Given the description of an element on the screen output the (x, y) to click on. 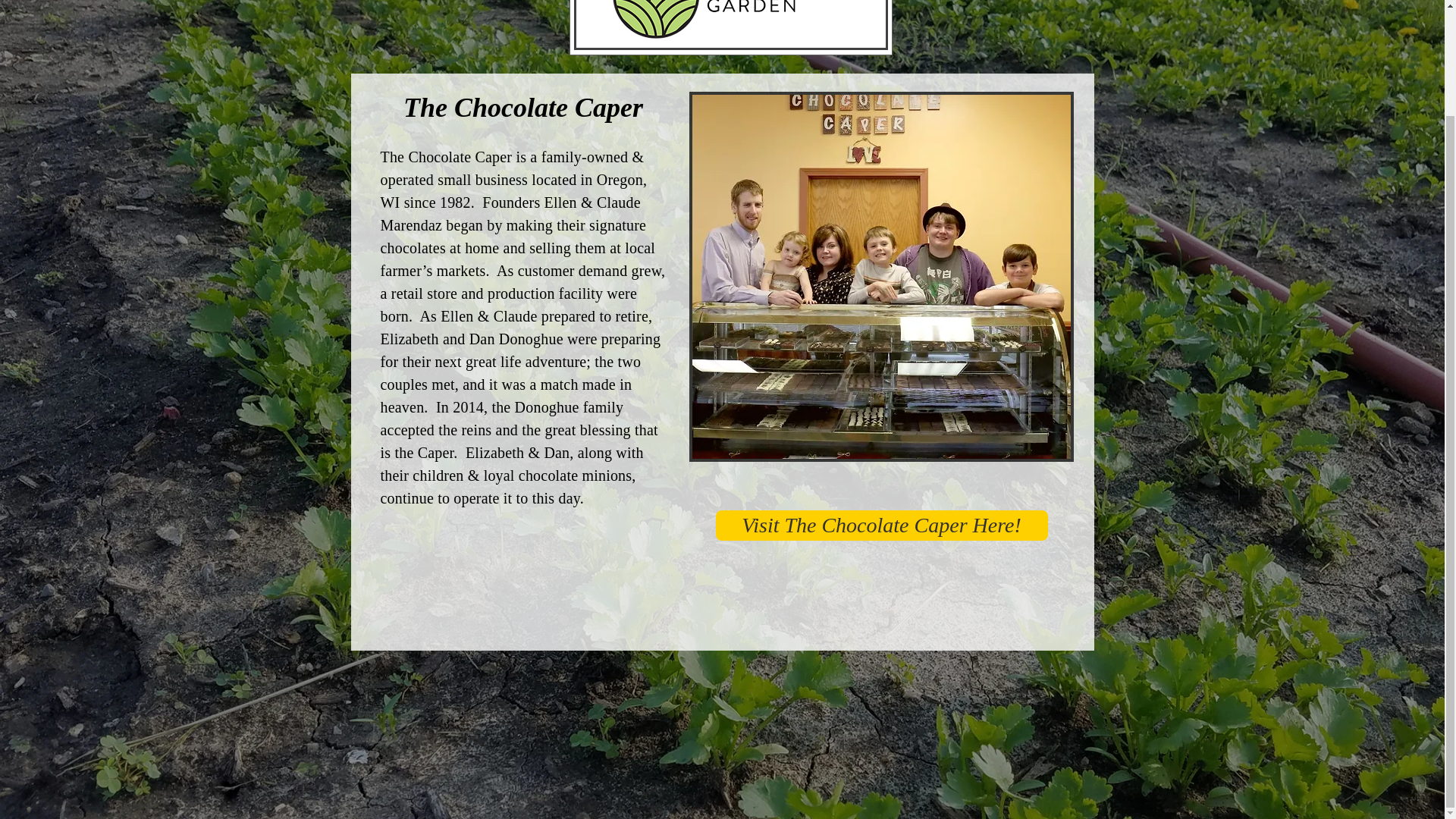
Visit The Chocolate Caper Here! (882, 525)
